Given the description of an element on the screen output the (x, y) to click on. 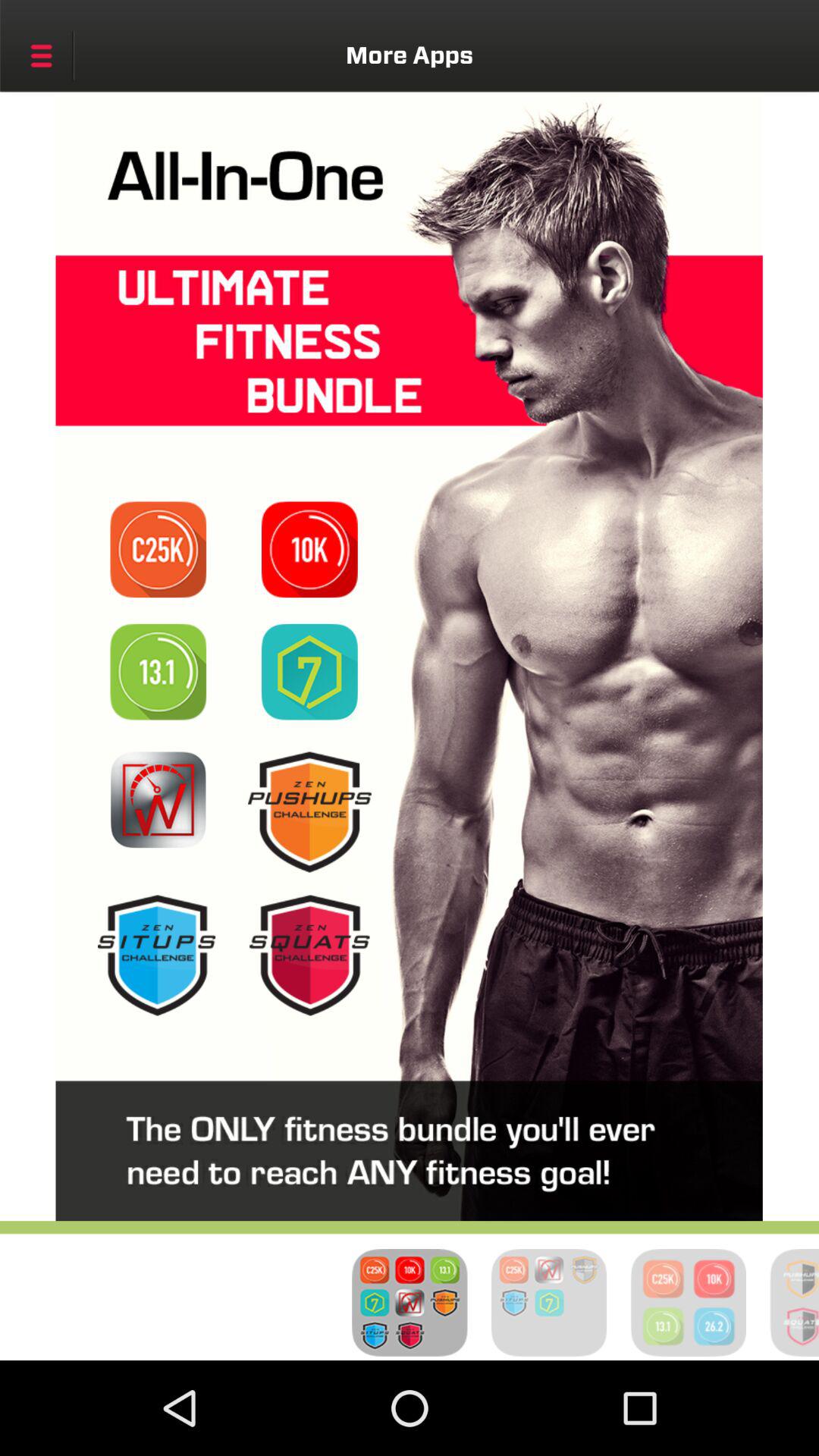
open the icon next to the more apps (40, 55)
